Given the description of an element on the screen output the (x, y) to click on. 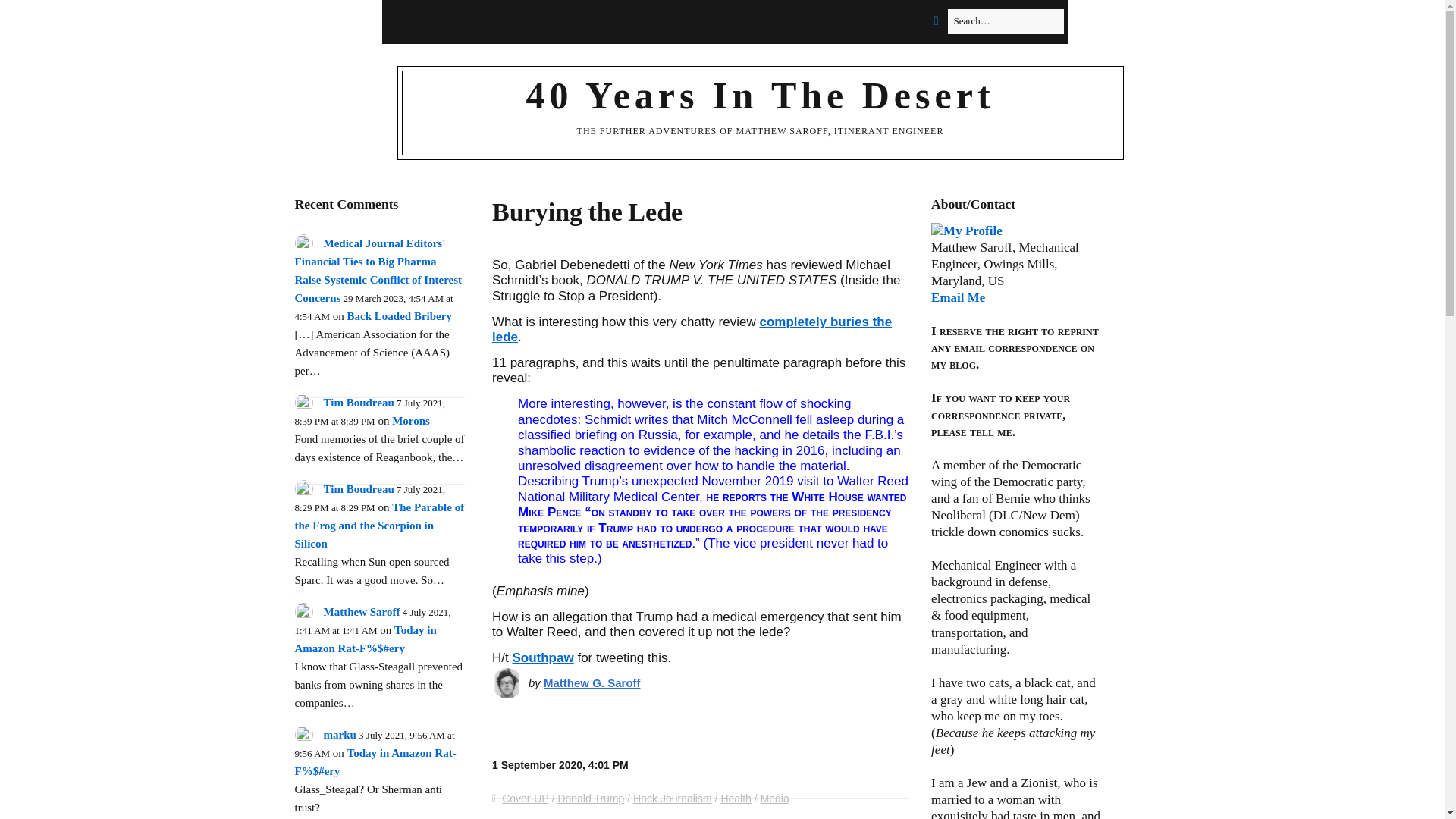
Back Loaded Bribery (399, 316)
Tim Boudreau (358, 489)
Search (27, 16)
Tim Boudreau (358, 402)
40 Years In The Desert (759, 95)
Matthew Saroff (360, 612)
My Profile (967, 230)
Morons (410, 420)
Press Enter to submit your search (1005, 21)
The Parable of the Frog and the Scorpion in Silicon (379, 525)
